Given the description of an element on the screen output the (x, y) to click on. 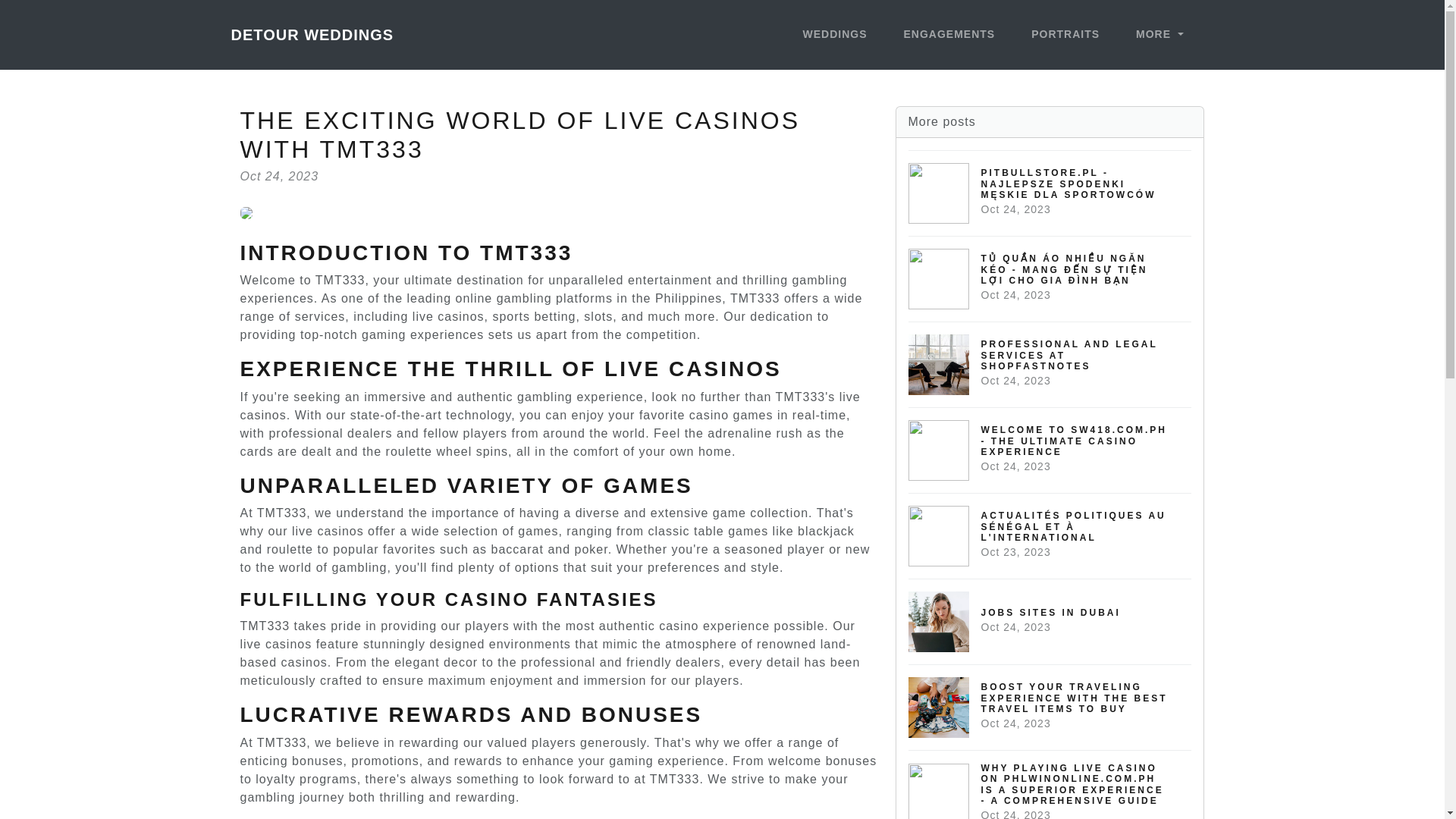
PORTRAITS (1065, 34)
MORE (1159, 34)
ENGAGEMENTS (948, 34)
WEDDINGS (1050, 621)
DETOUR WEDDINGS (834, 34)
